Given the description of an element on the screen output the (x, y) to click on. 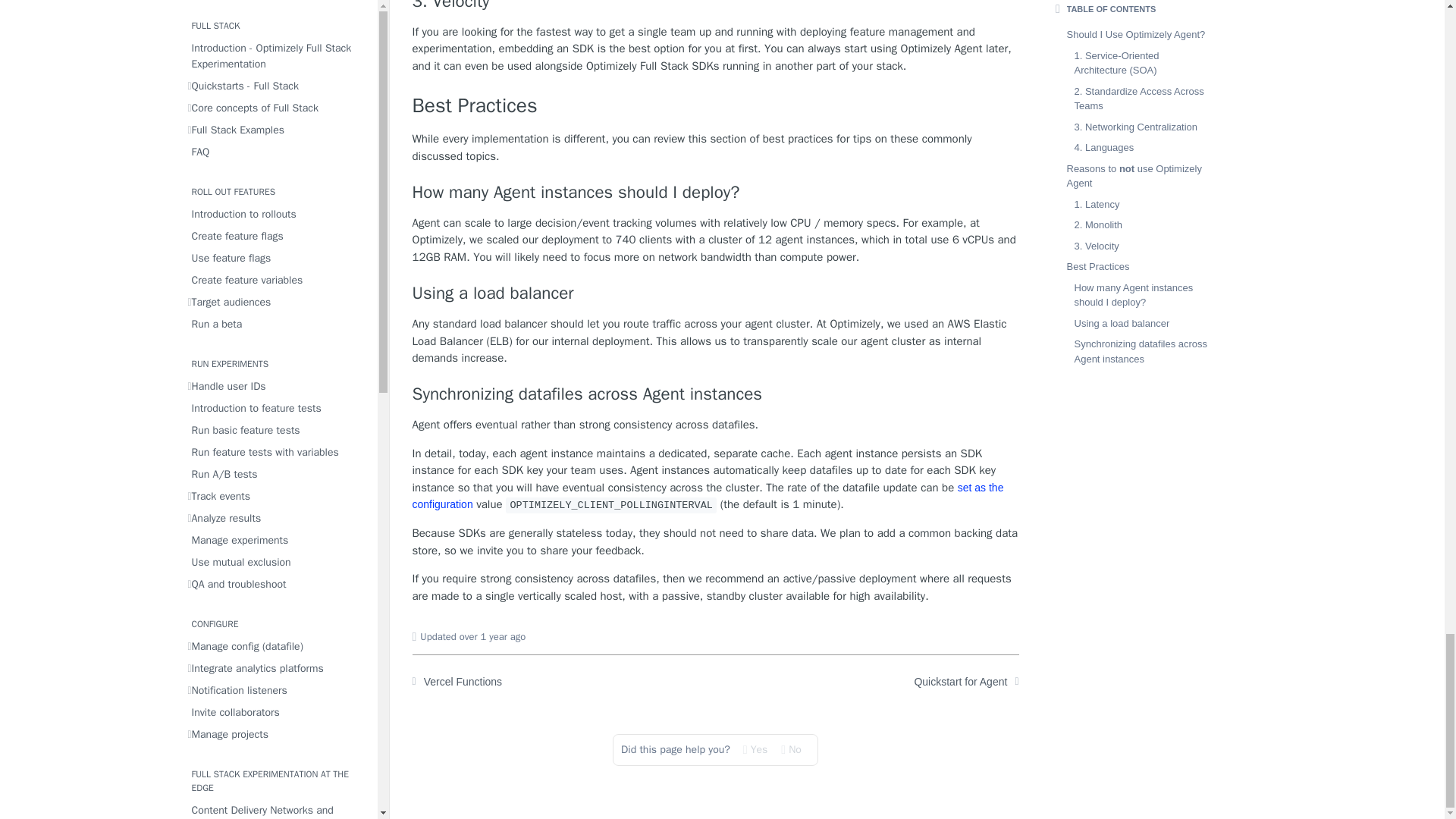
How many Agent instances should I deploy? (715, 192)
3. Velocity (715, 6)
Using a load balancer (715, 292)
Synchronizing datafiles across Agent instances (715, 394)
Best Practices (715, 106)
